Given the description of an element on the screen output the (x, y) to click on. 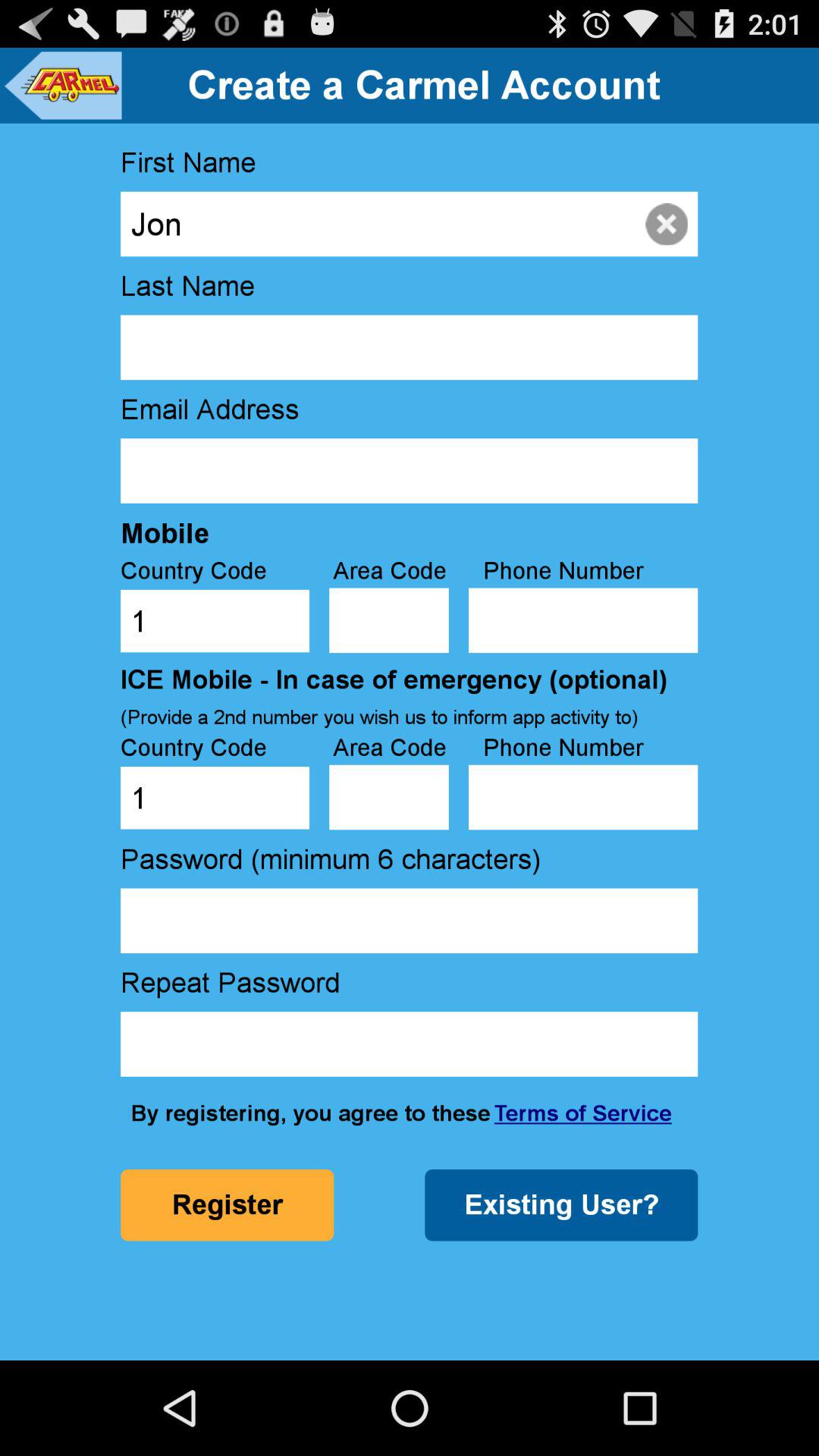
select the icon below last name item (408, 347)
